Given the description of an element on the screen output the (x, y) to click on. 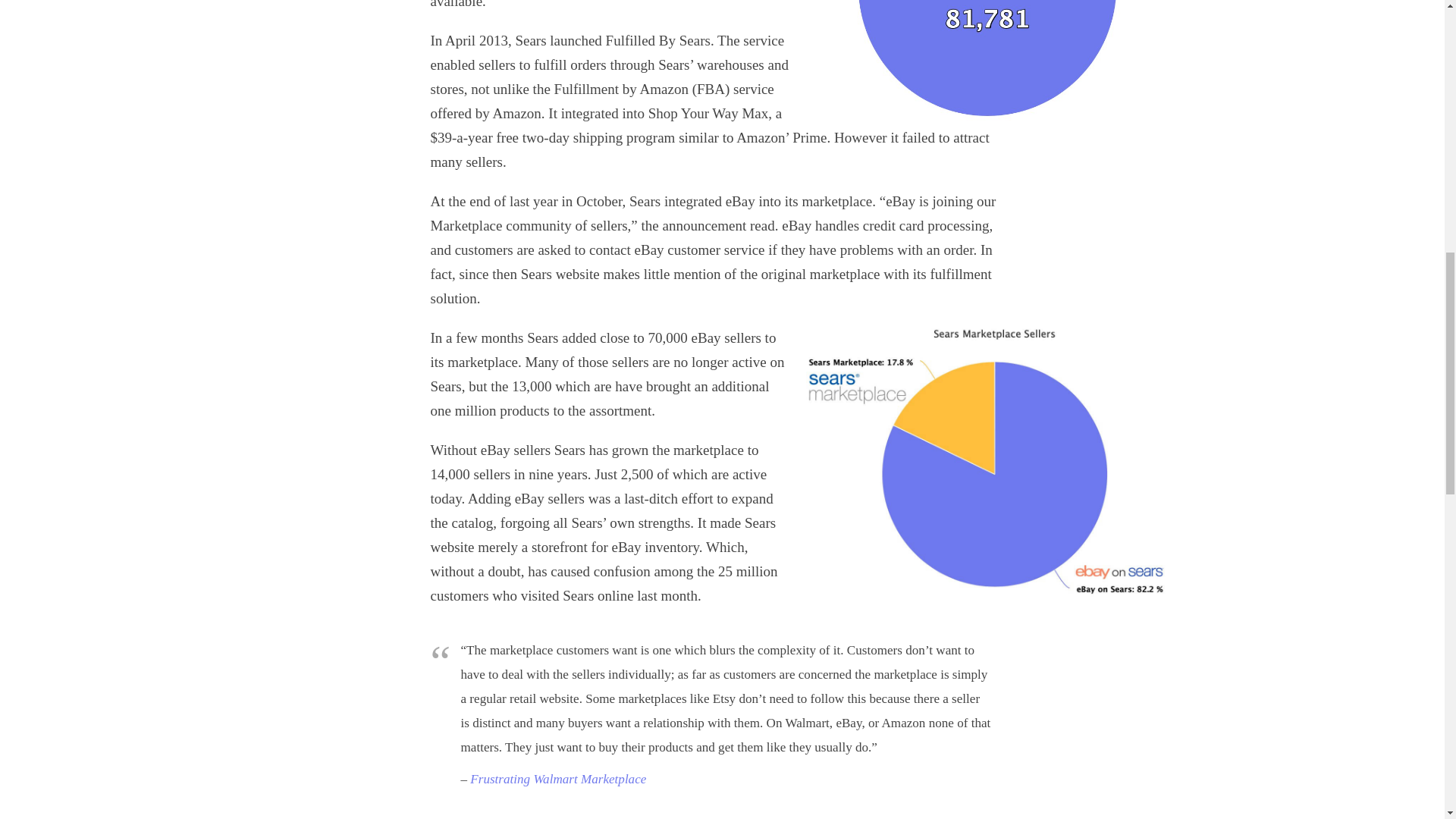
Frustrating Walmart Marketplace (558, 779)
